Given the description of an element on the screen output the (x, y) to click on. 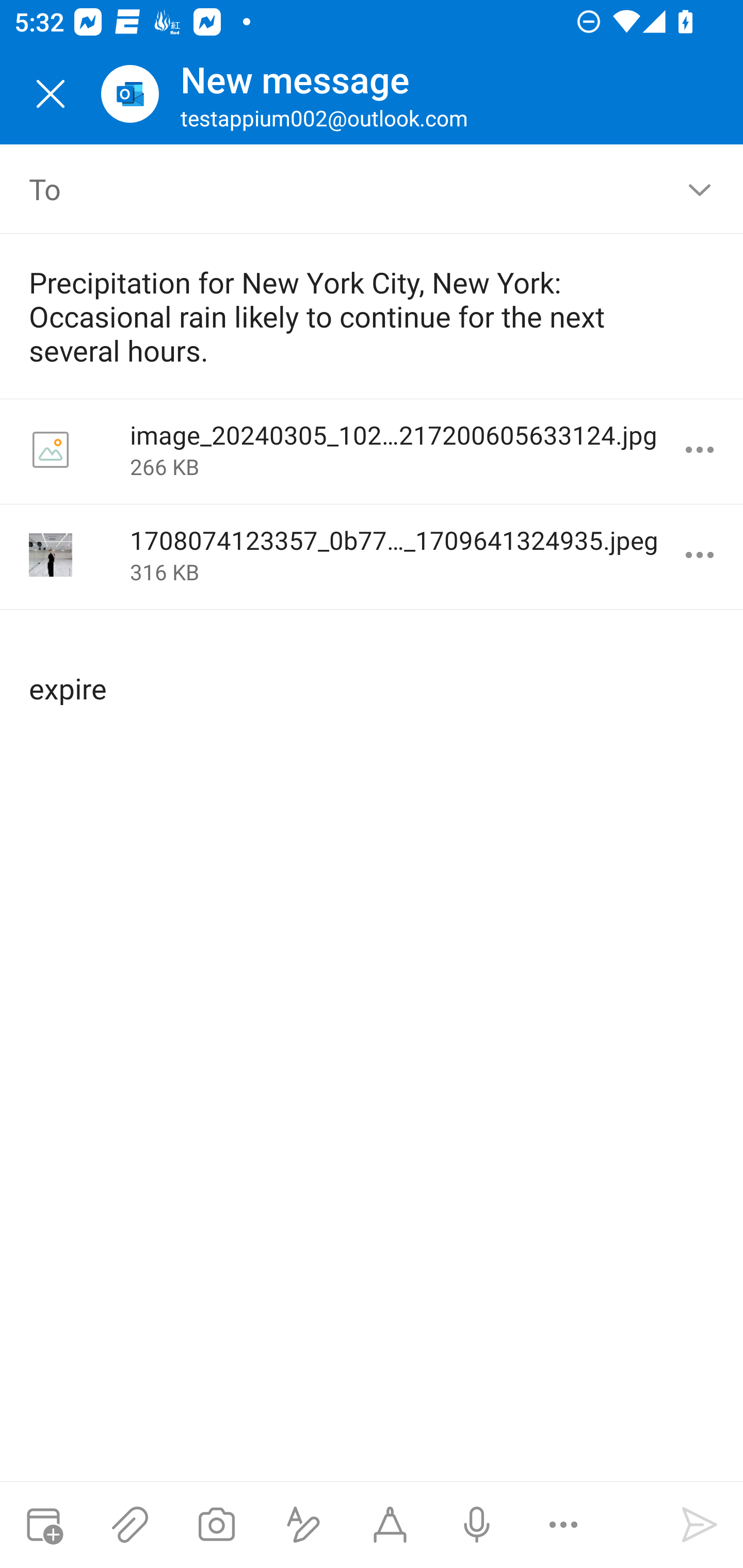
Close (50, 93)
More options (699, 449)
More options (699, 554)

expire (372, 671)
Attach meeting (43, 1524)
Attach files (129, 1524)
Take a photo (216, 1524)
Show formatting options (303, 1524)
Start Ink compose (389, 1524)
Dictation (476, 1524)
More options (563, 1524)
Send (699, 1524)
